Given the description of an element on the screen output the (x, y) to click on. 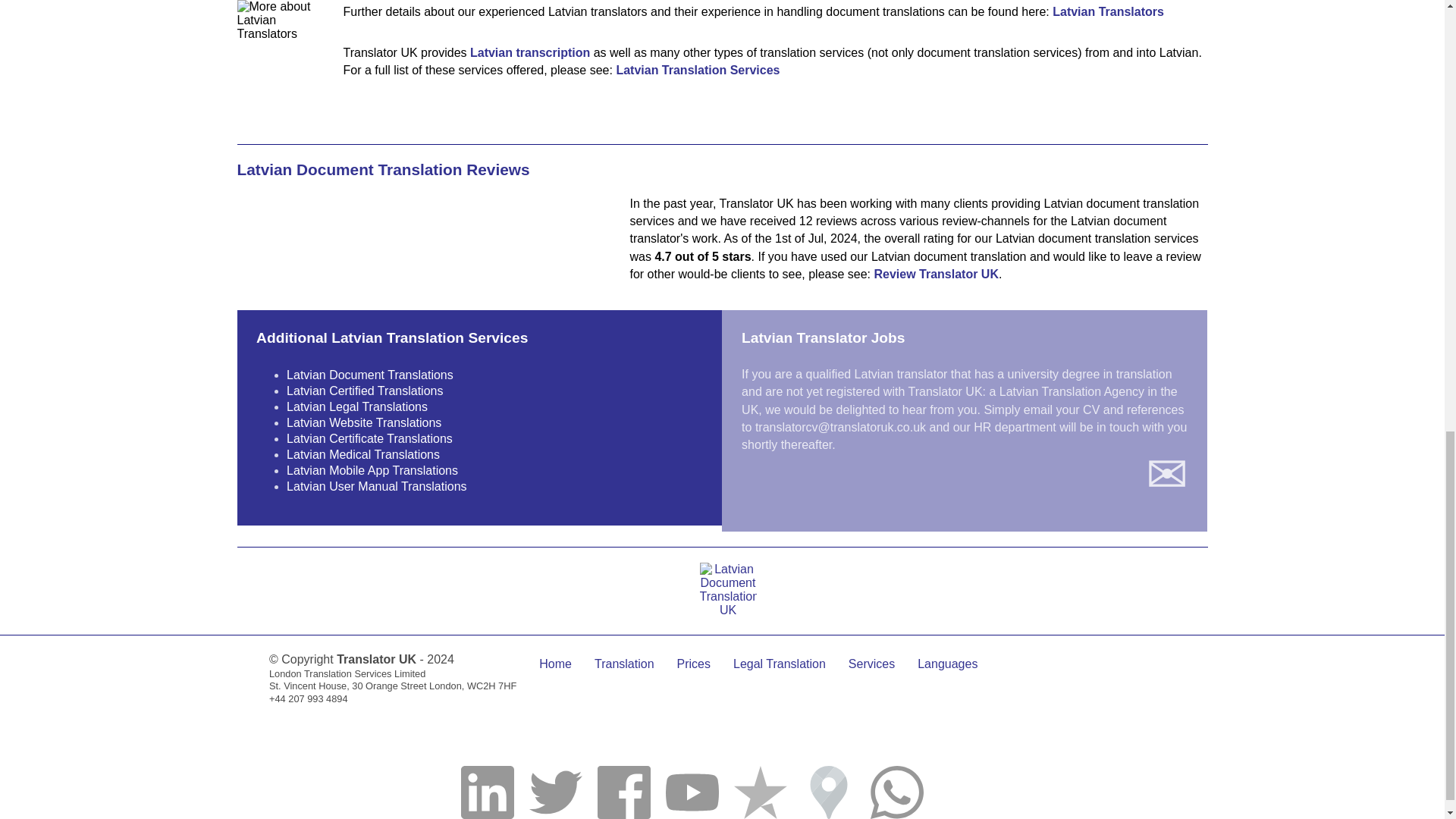
Latvian Translation Agency in the UK (959, 399)
Latvian Website Translations (363, 422)
Latvian Mobile App Translations (372, 470)
Review Translator UK (935, 273)
Latvian Translators (1107, 11)
4.7 out of 5 stars based on 12 reviews (421, 234)
Latvian Legal Translations (357, 406)
Latvian Certificate Translations (369, 438)
Latvian Certified Translations (364, 390)
Translation (623, 663)
Languages (946, 663)
Latvian transcription services (529, 51)
Latvian transcription (529, 51)
Services (871, 663)
Latvian Translation Services (696, 69)
